Given the description of an element on the screen output the (x, y) to click on. 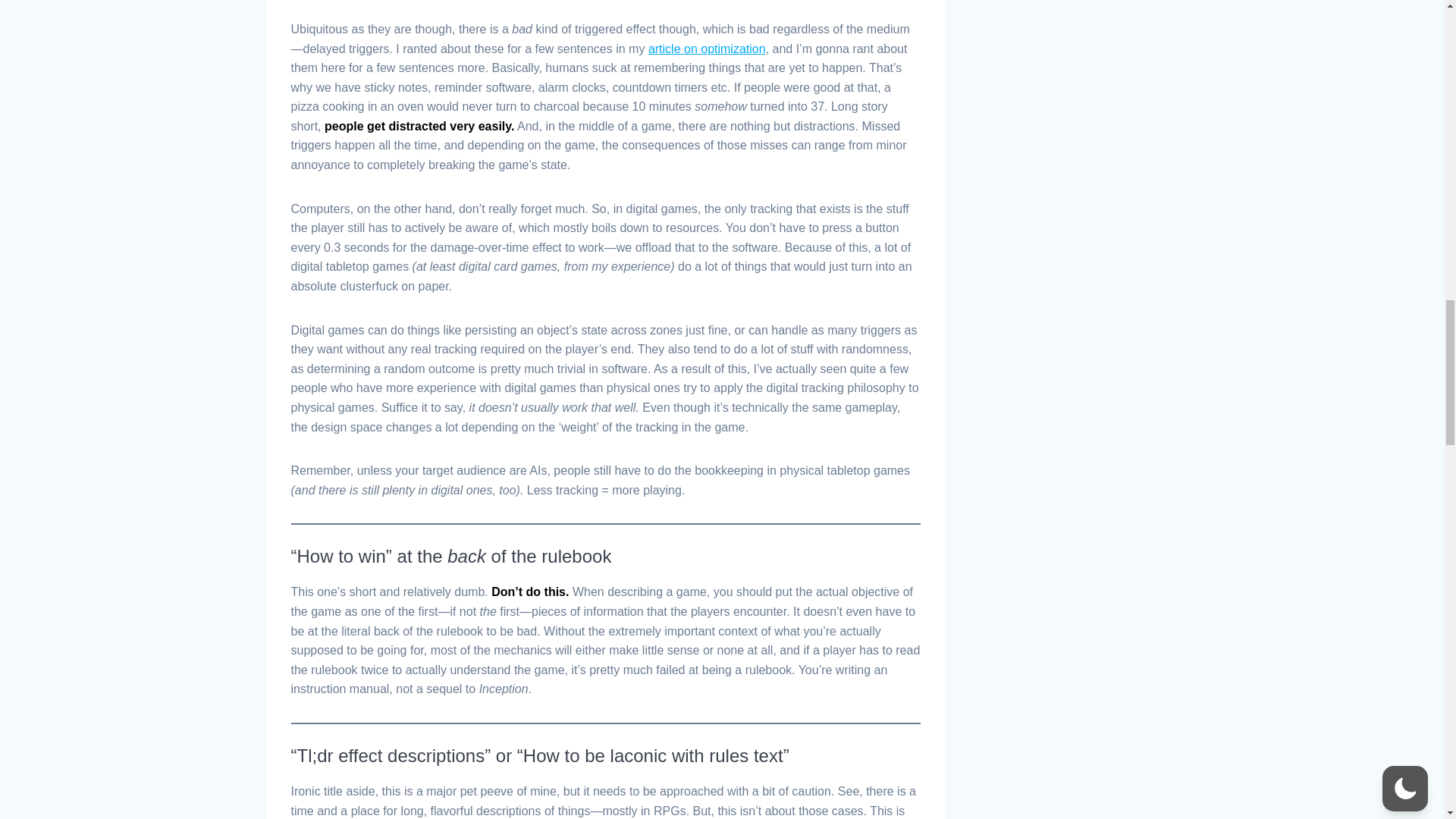
article on optimization (706, 48)
